Given the description of an element on the screen output the (x, y) to click on. 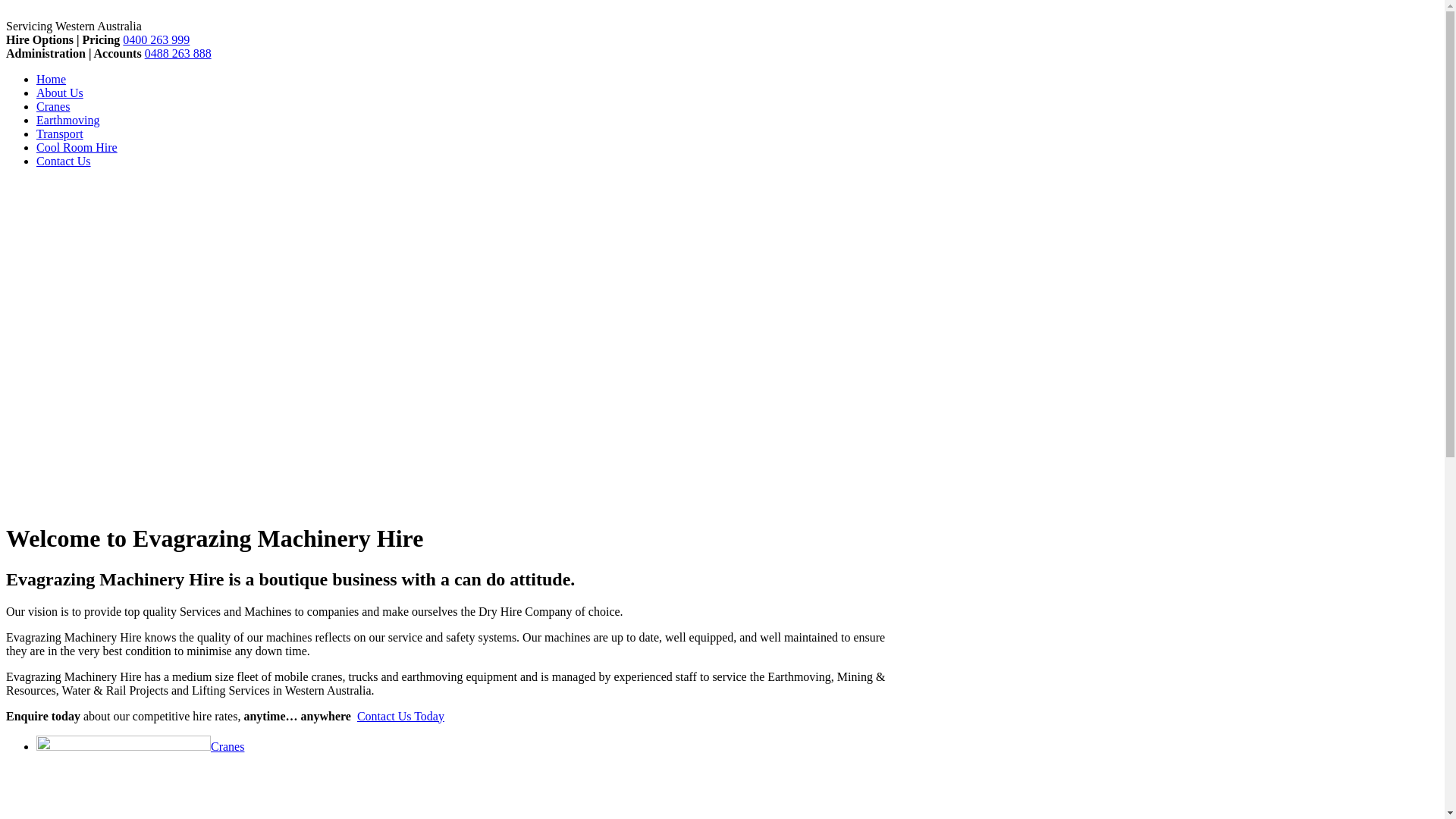
0488 263 888 Element type: text (177, 53)
Cranes Element type: text (140, 746)
Home Element type: text (50, 78)
Transport Element type: text (59, 133)
Cool Room Hire Element type: text (76, 147)
Earthmoving Element type: text (68, 119)
About Us Element type: text (59, 92)
Cranes Element type: text (52, 106)
Contact Us Element type: text (63, 160)
0400 263 999 Element type: text (155, 39)
Contact Us Today Element type: text (400, 715)
